Given the description of an element on the screen output the (x, y) to click on. 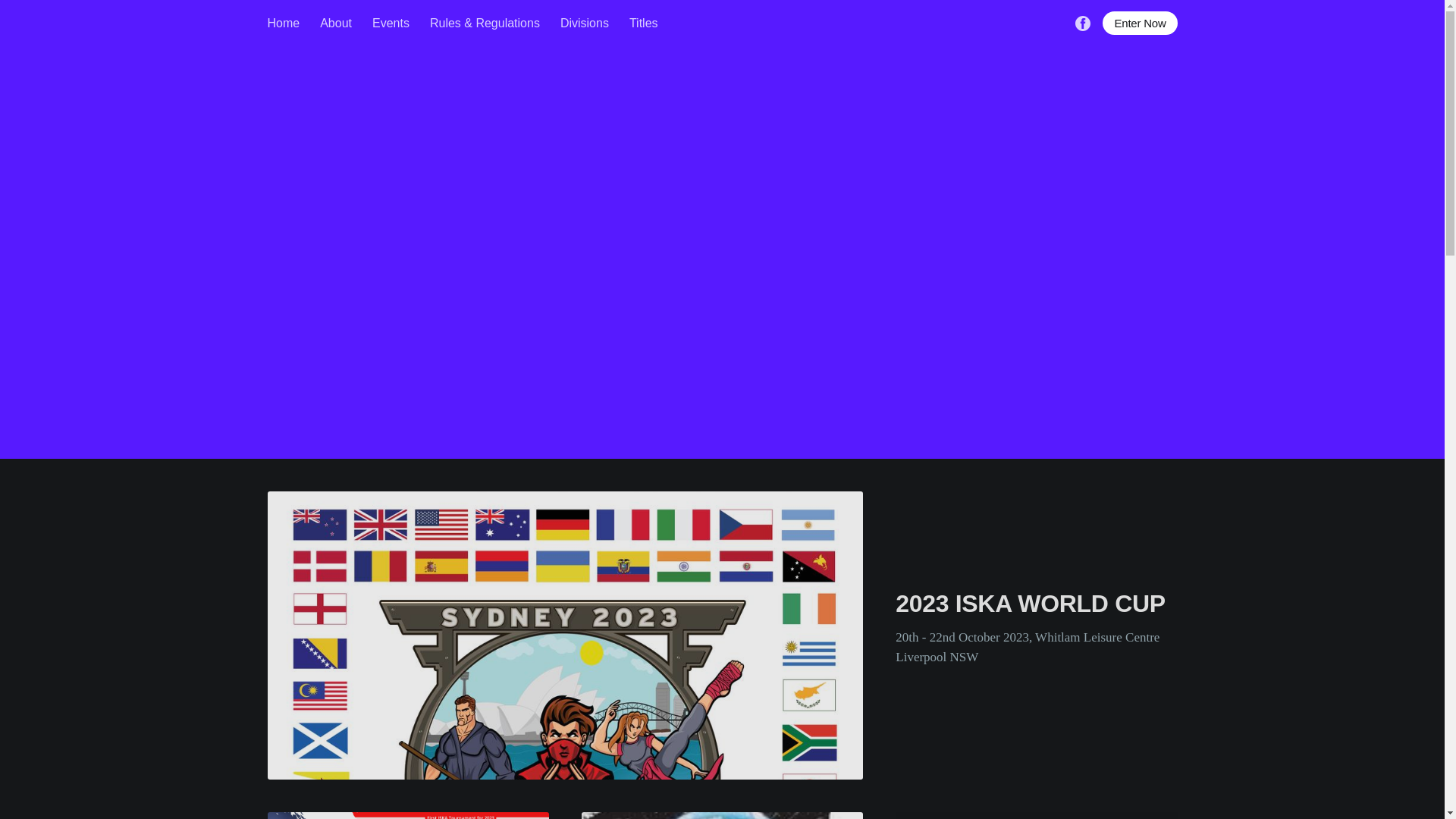
Home Element type: text (282, 23)
Titles Element type: text (643, 23)
Enter Now Element type: text (1139, 22)
Facebook Element type: hover (1082, 21)
Divisions Element type: text (584, 23)
Rules & Regulations Element type: text (484, 23)
Events Element type: text (390, 23)
About Element type: text (335, 23)
